Given the description of an element on the screen output the (x, y) to click on. 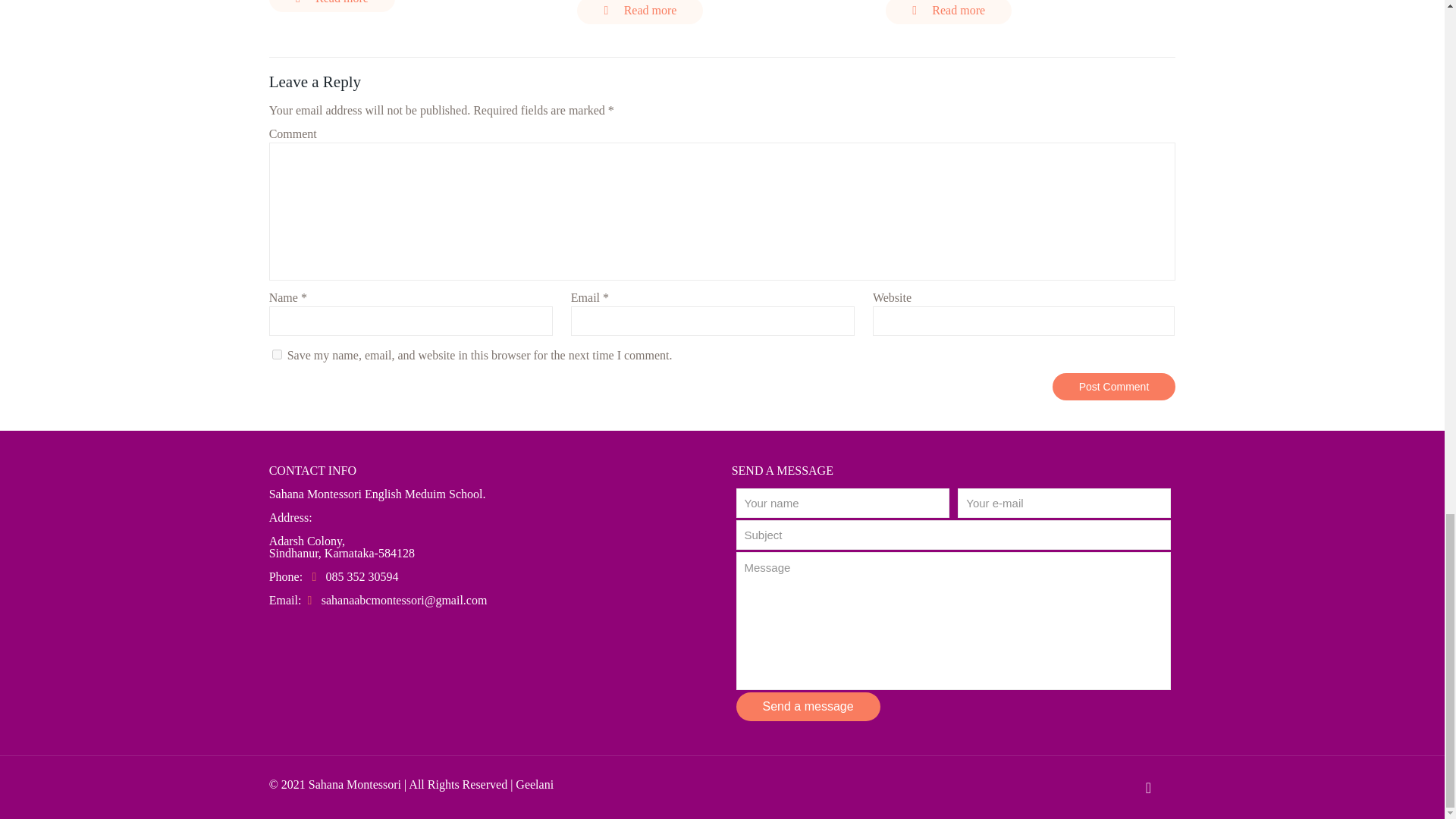
Read more (639, 12)
Read more (331, 6)
Send a message (807, 706)
Post Comment (1114, 386)
085 352 30594 (362, 576)
yes (277, 354)
Read more (948, 12)
Post Comment (1114, 386)
